Given the description of an element on the screen output the (x, y) to click on. 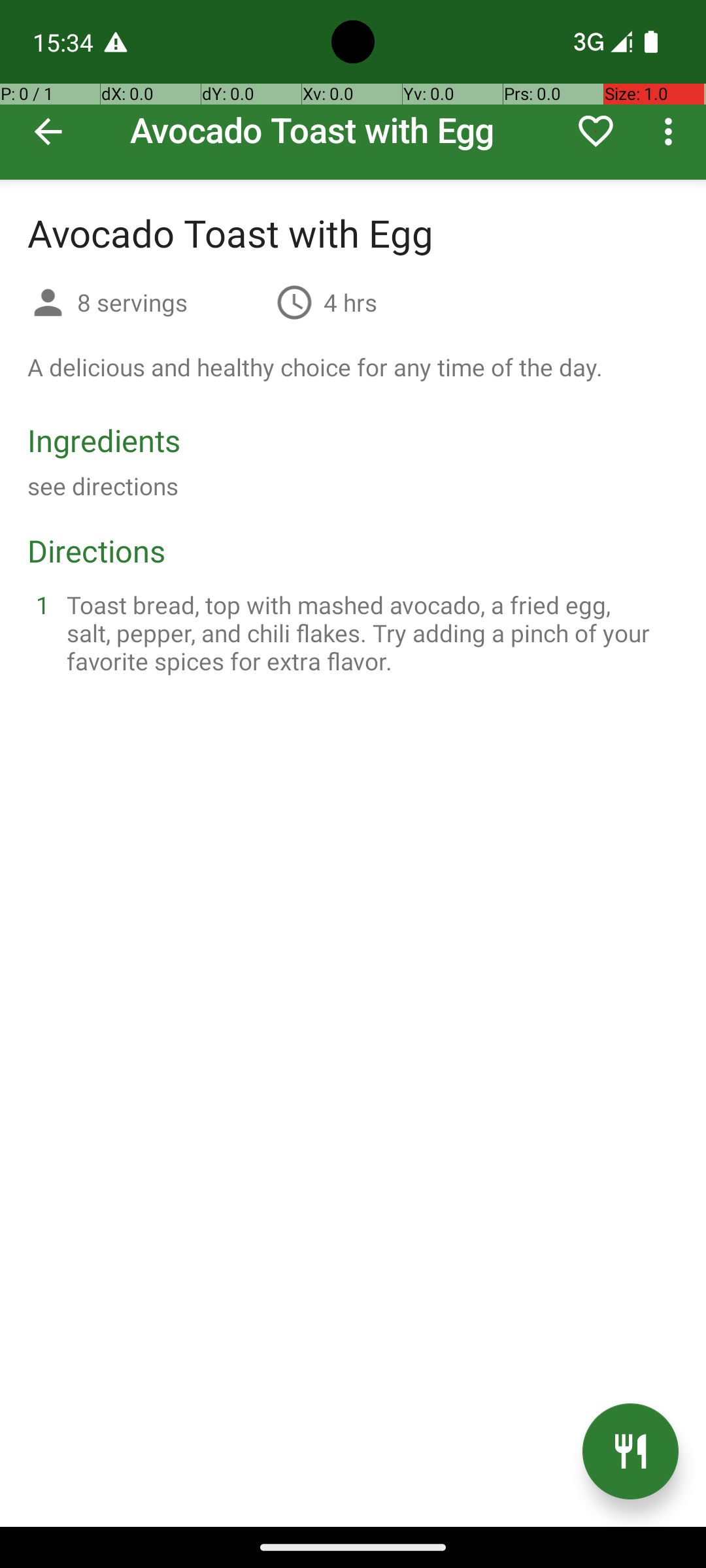
4 hrs Element type: android.widget.TextView (350, 301)
Toast bread, top with mashed avocado, a fried egg, salt, pepper, and chili flakes. Try adding a pinch of your favorite spices for extra flavor. Element type: android.widget.TextView (368, 632)
